Given the description of an element on the screen output the (x, y) to click on. 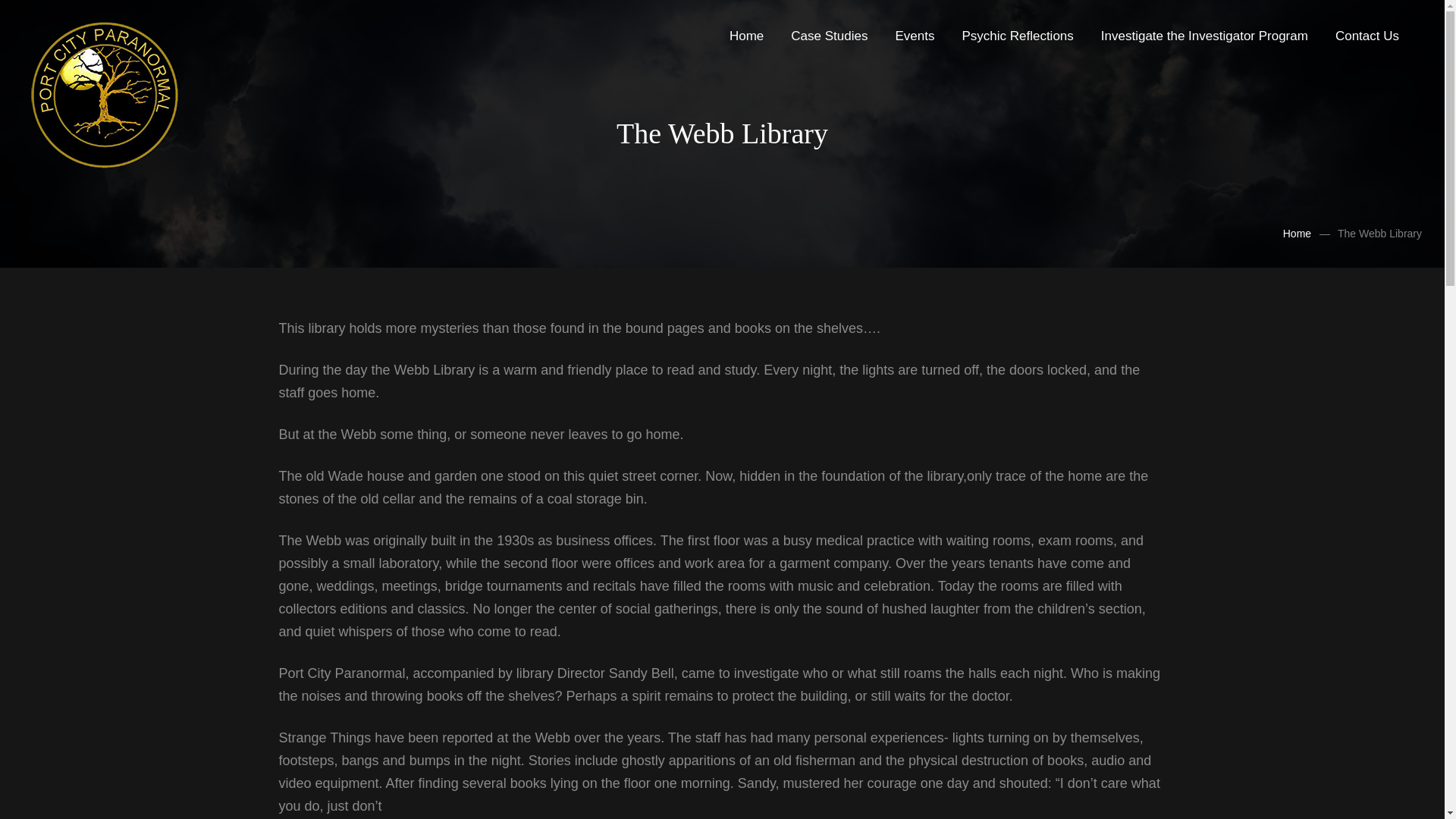
Events (914, 36)
Contact Us (1367, 36)
Port City Paranormal (112, 94)
Home (746, 36)
Investigate the Investigator Program (1204, 36)
Case Studies (828, 36)
Psychic Reflections (1016, 36)
Go to Port City Paranormal. (1296, 234)
Home (1296, 234)
